Given the description of an element on the screen output the (x, y) to click on. 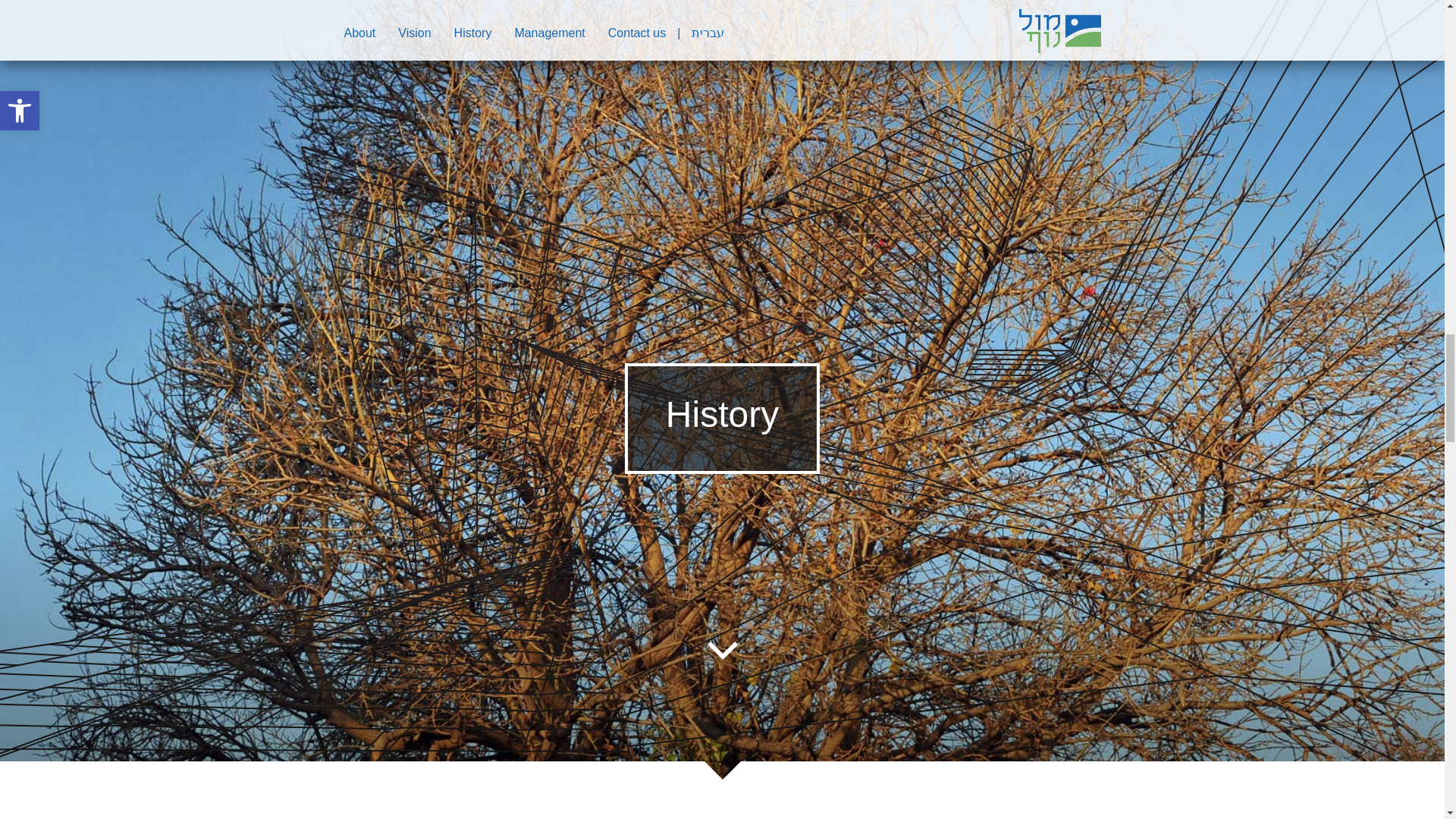
skip to content (721, 650)
